Given the description of an element on the screen output the (x, y) to click on. 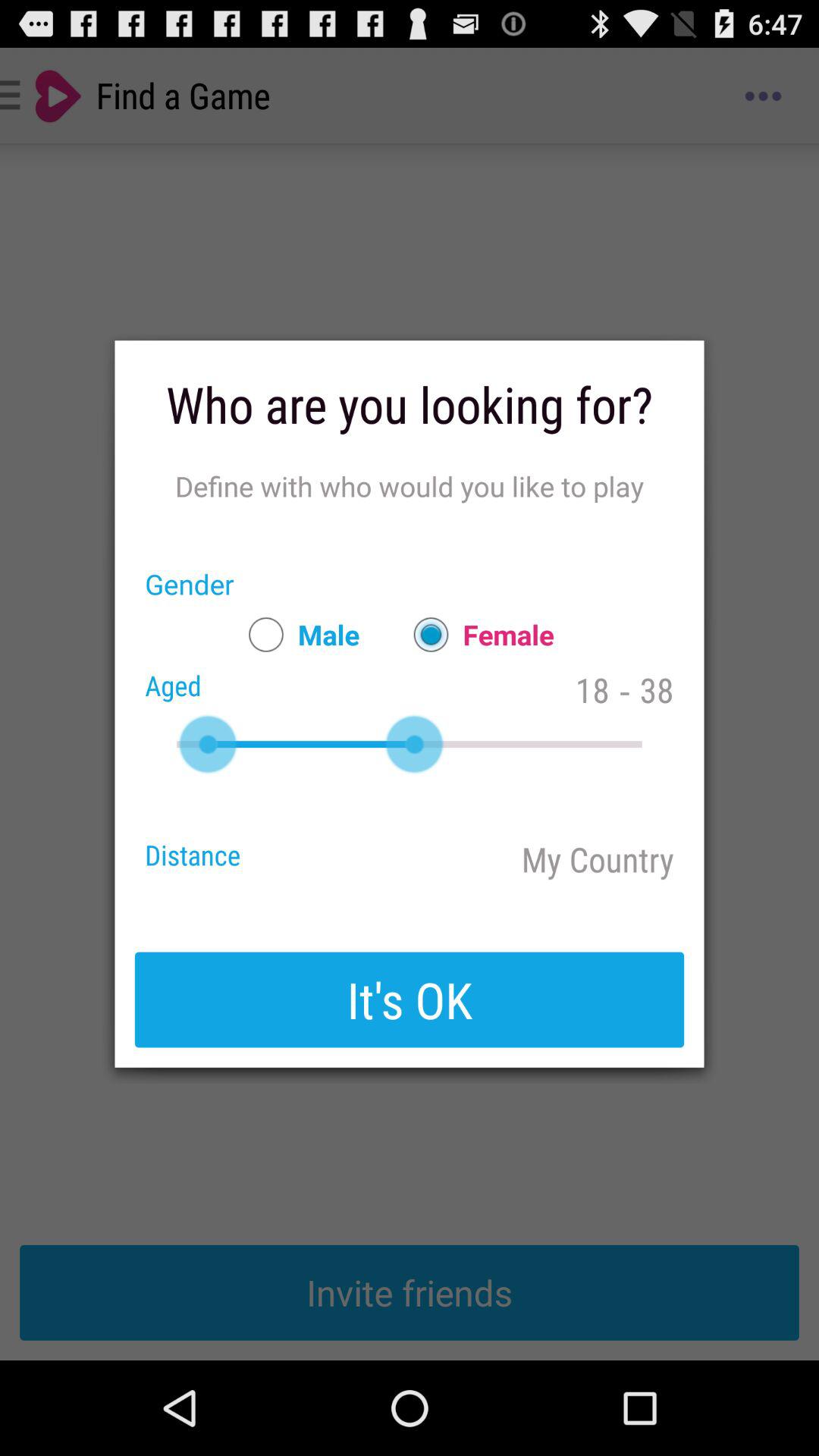
turn off the app next to gender (296, 634)
